Given the description of an element on the screen output the (x, y) to click on. 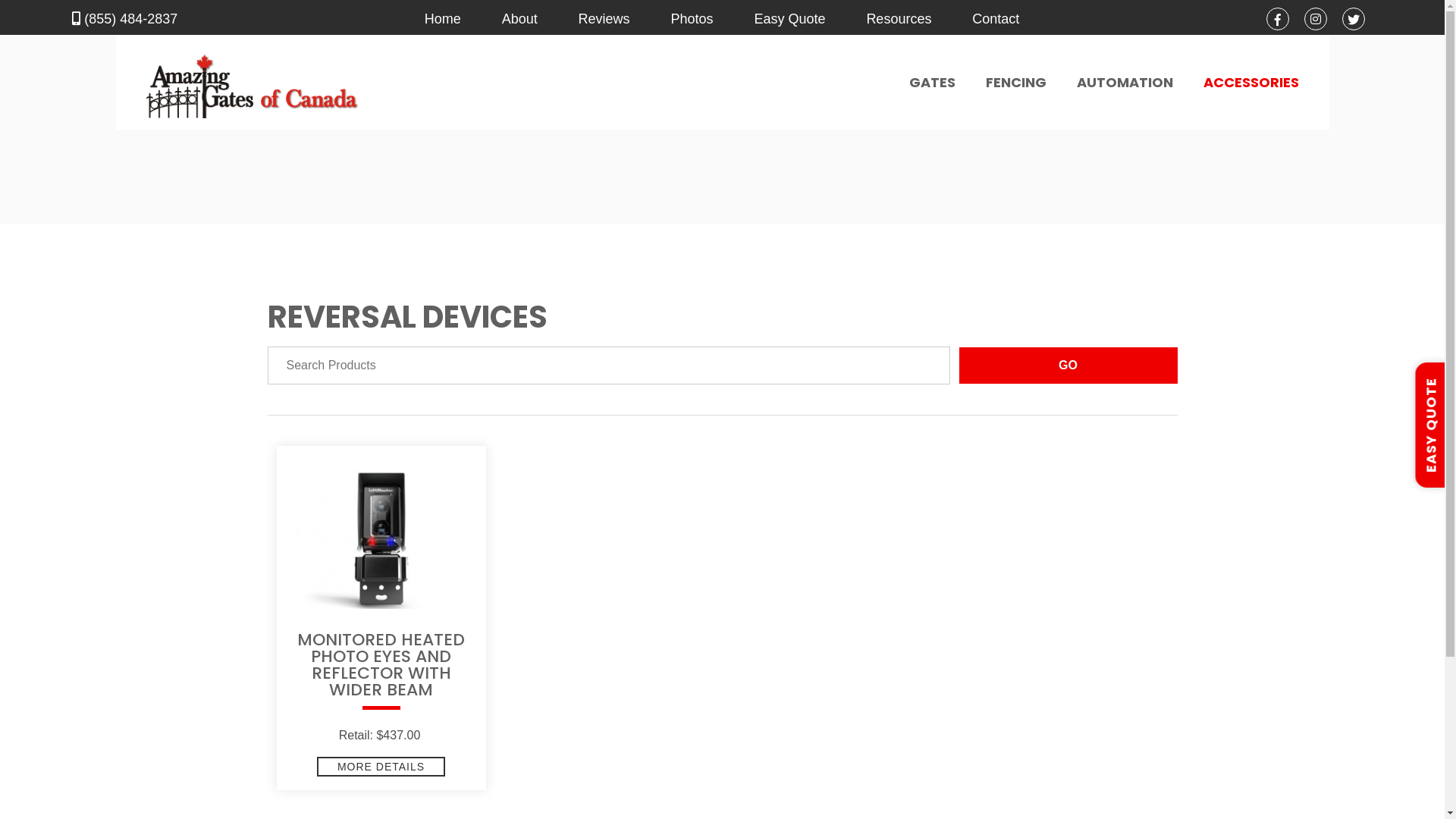
Go Element type: text (1067, 365)
Easy Quote Element type: text (789, 18)
AUTOMATION Element type: text (1124, 82)
MONITORED HEATED PHOTO EYES AND REFLECTOR WITH WIDER BEAM Element type: text (380, 673)
MORE DETAILS Element type: text (380, 766)
Contact Element type: text (995, 18)
Reviews Element type: text (604, 18)
FENCING Element type: text (1015, 82)
GATES Element type: text (931, 82)
About Element type: text (519, 18)
Resources Element type: text (898, 18)
Photos Element type: text (691, 18)
Home Element type: text (442, 18)
ACCESSORIES Element type: text (1250, 82)
